Given the description of an element on the screen output the (x, y) to click on. 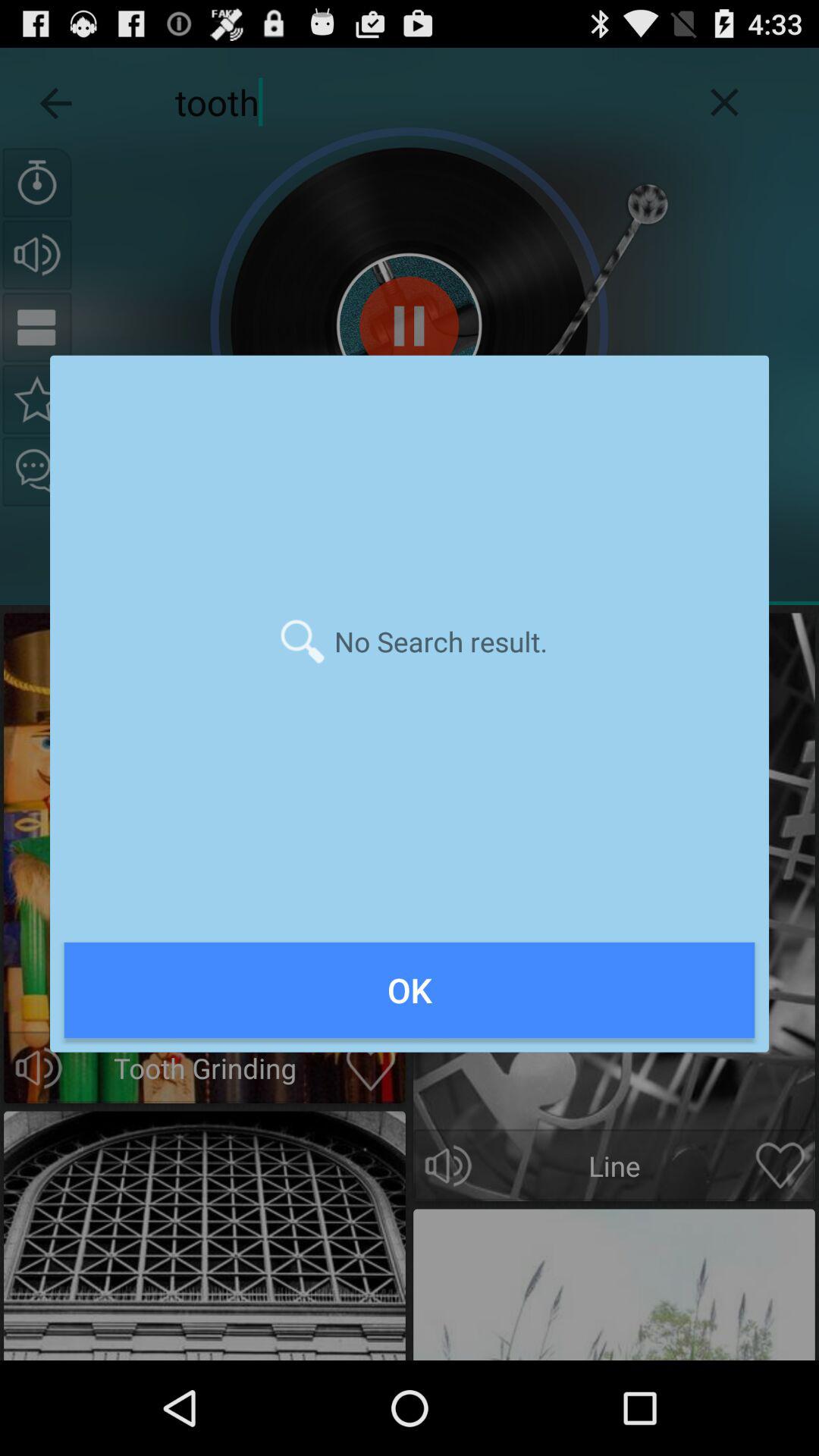
flip until the ok icon (409, 989)
